Given the description of an element on the screen output the (x, y) to click on. 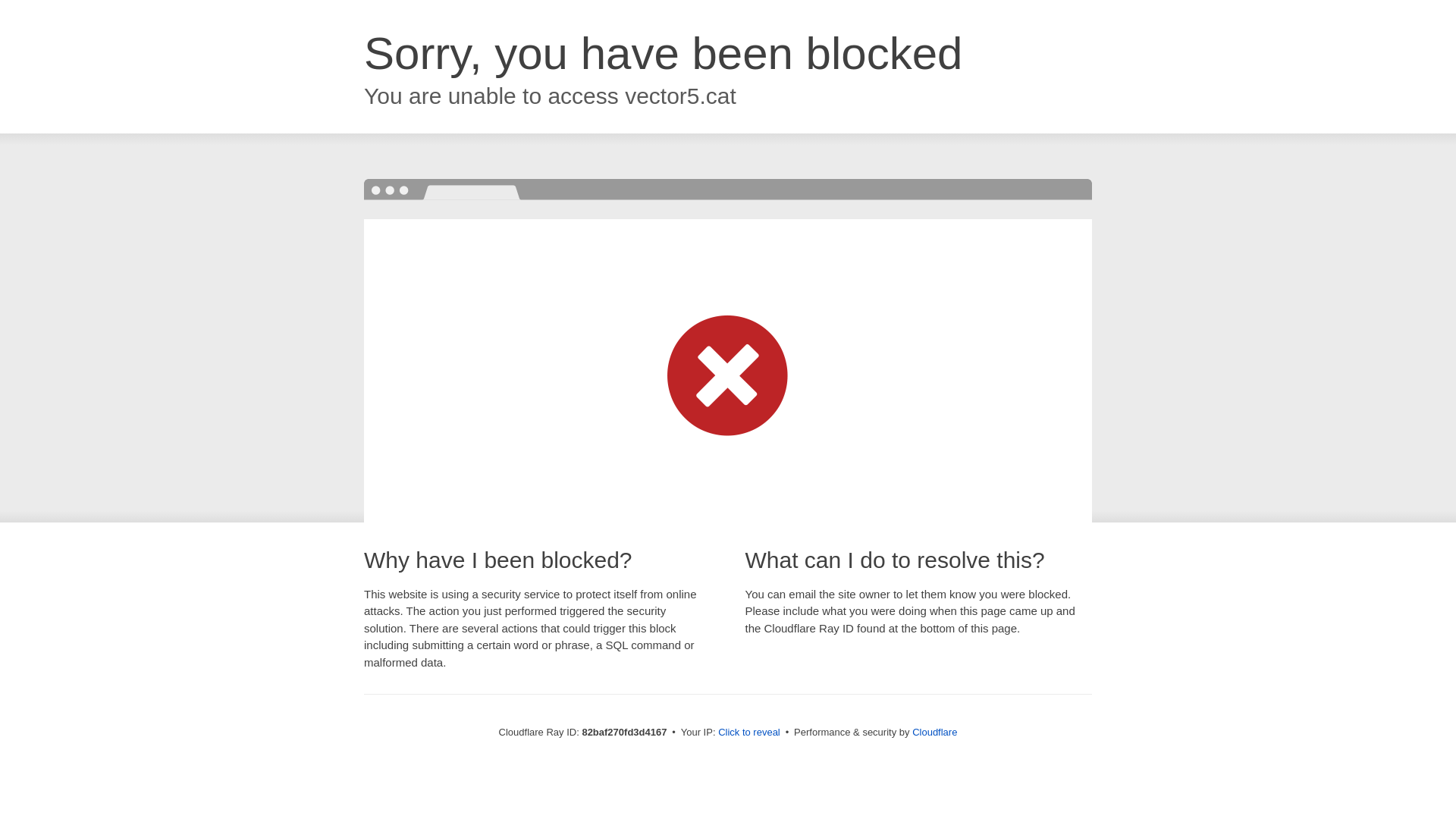
Cloudflare Element type: text (934, 731)
Click to reveal Element type: text (749, 732)
